Given the description of an element on the screen output the (x, y) to click on. 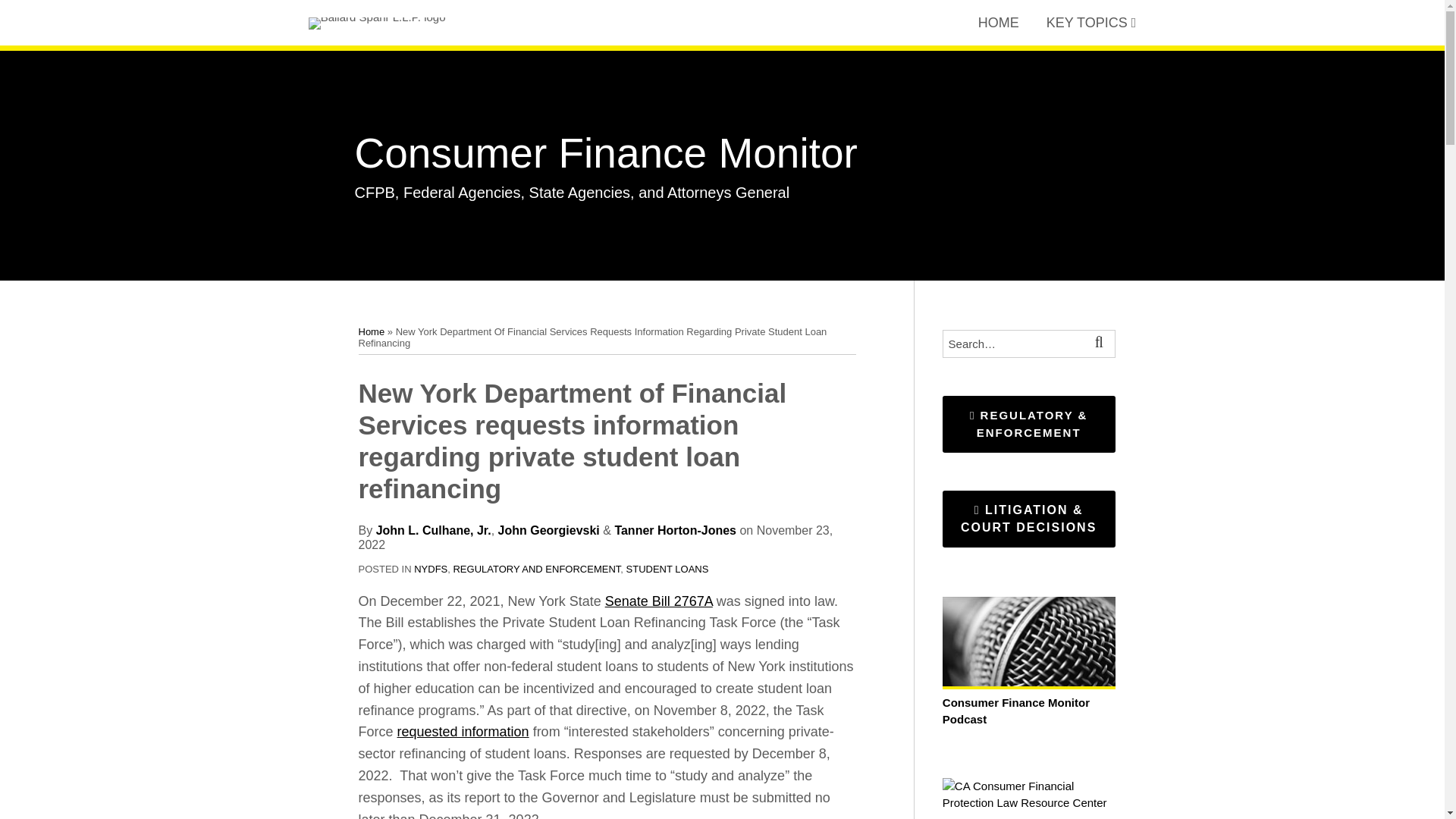
Tanner Horton-Jones (675, 530)
KEY TOPICS (1086, 22)
Consumer Finance Monitor (606, 152)
STUDENT LOANS (667, 568)
HOME (998, 22)
SEARCH (1101, 343)
John L. Culhane, Jr. (433, 530)
Home (371, 331)
Senate Bill 2767A (659, 601)
NYDFS (429, 568)
requested information (463, 731)
Consumer Finance Monitor Podcast (1028, 701)
John Georgievski (548, 530)
REGULATORY AND ENFORCEMENT (536, 568)
